Given the description of an element on the screen output the (x, y) to click on. 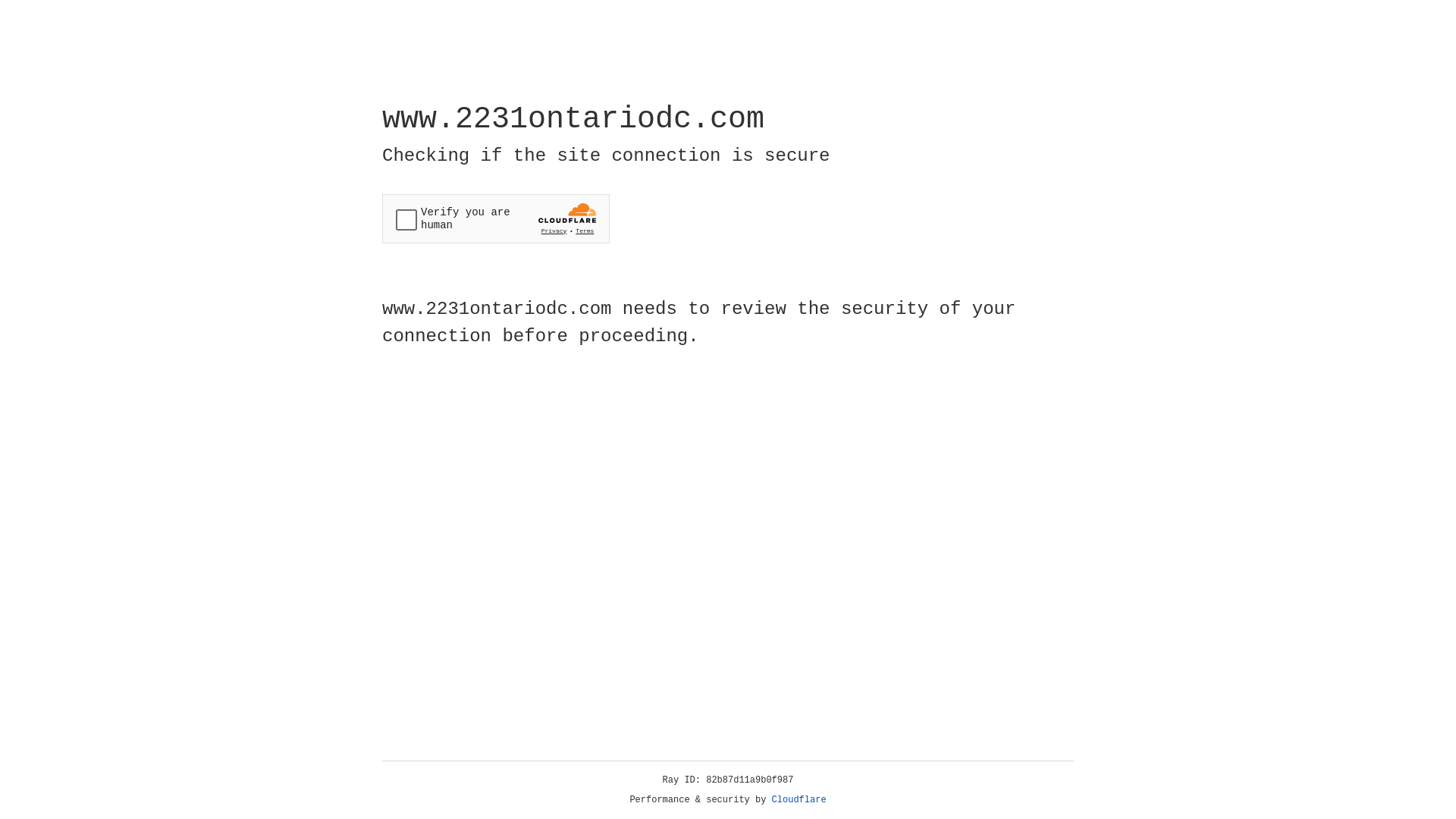
Cloudflare Element type: text (798, 799)
Widget containing a Cloudflare security challenge Element type: hover (495, 218)
